Given the description of an element on the screen output the (x, y) to click on. 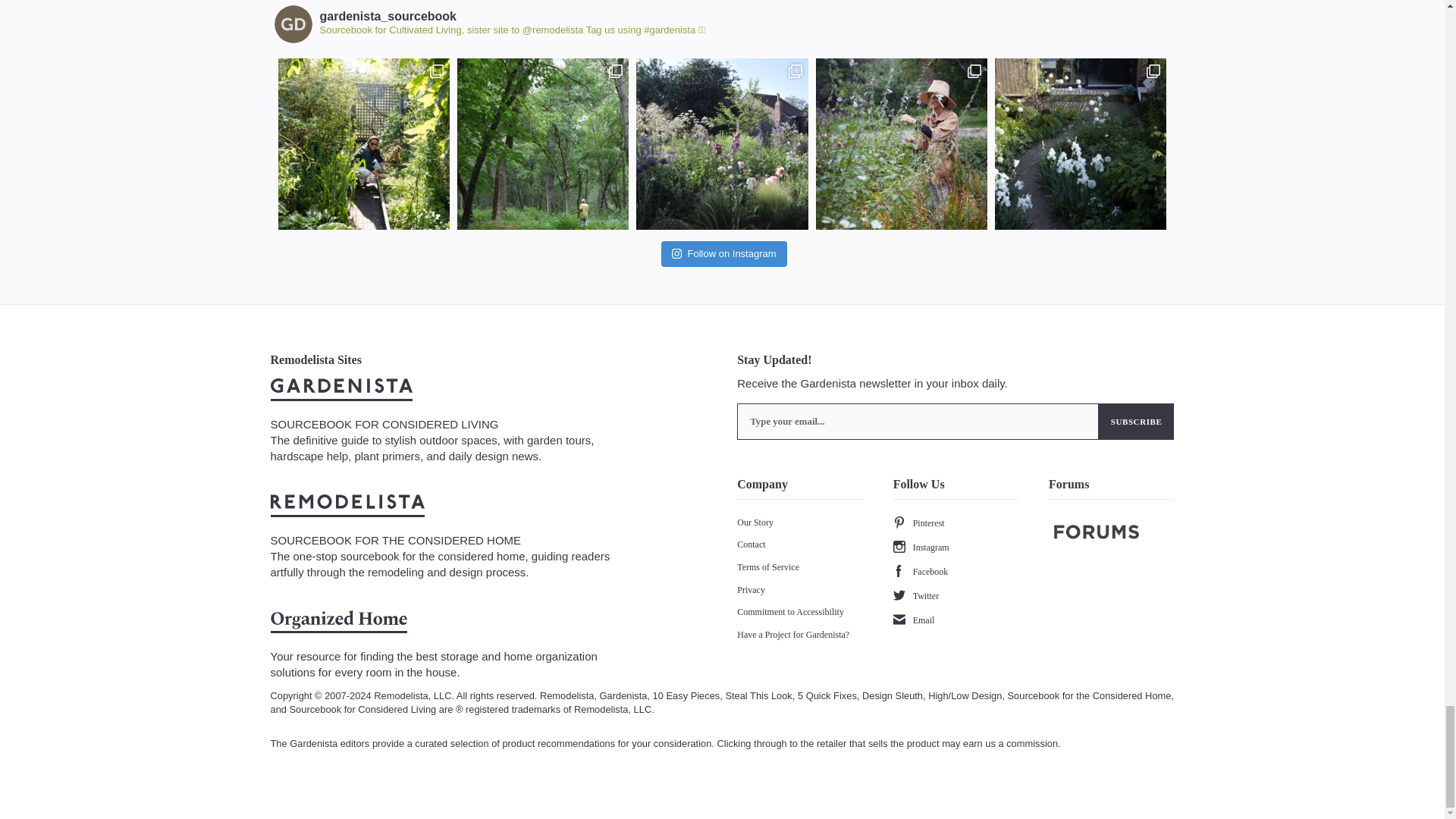
Subscribe (1136, 421)
